Given the description of an element on the screen output the (x, y) to click on. 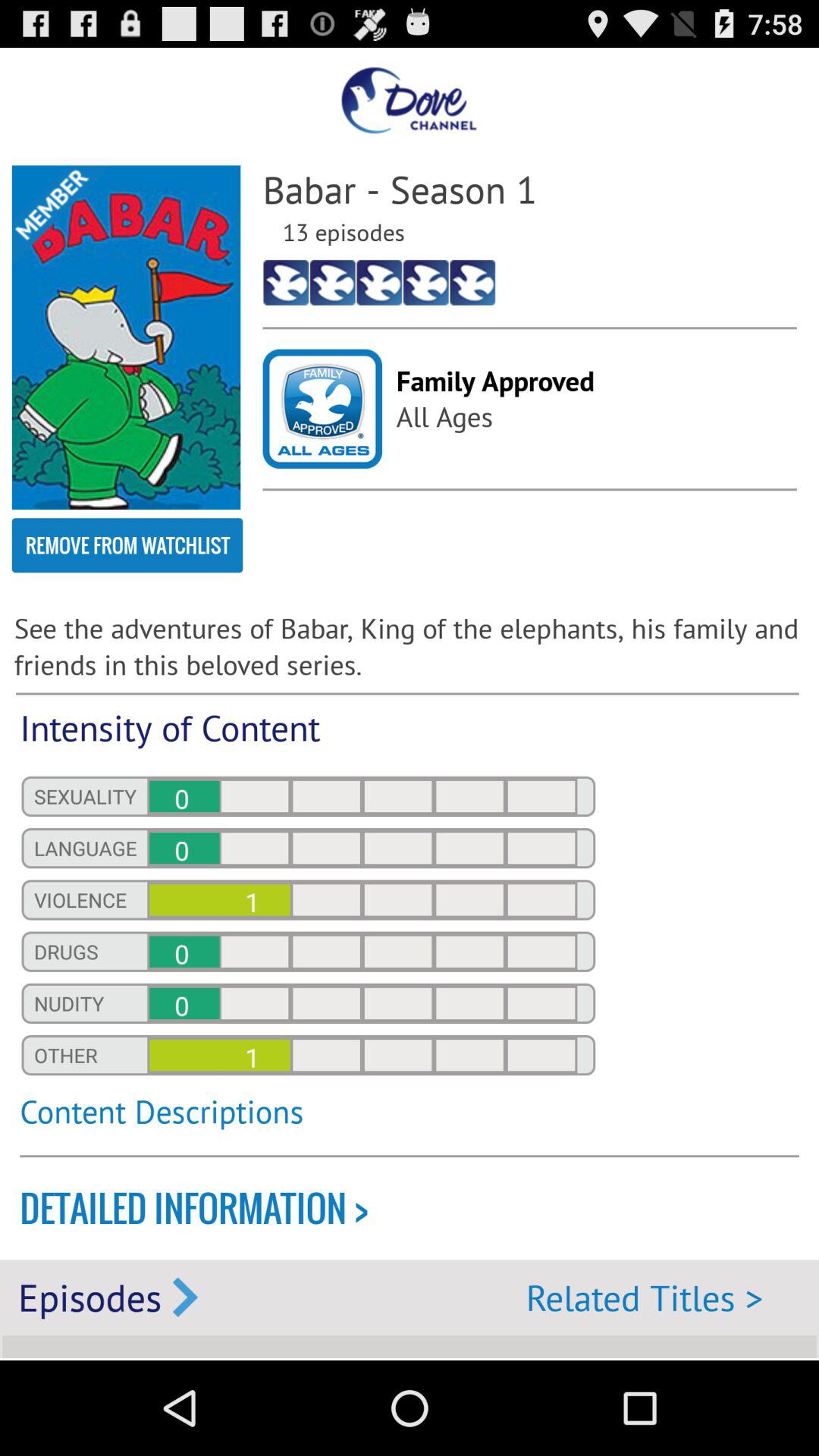
press item above the see the adventures (126, 545)
